Given the description of an element on the screen output the (x, y) to click on. 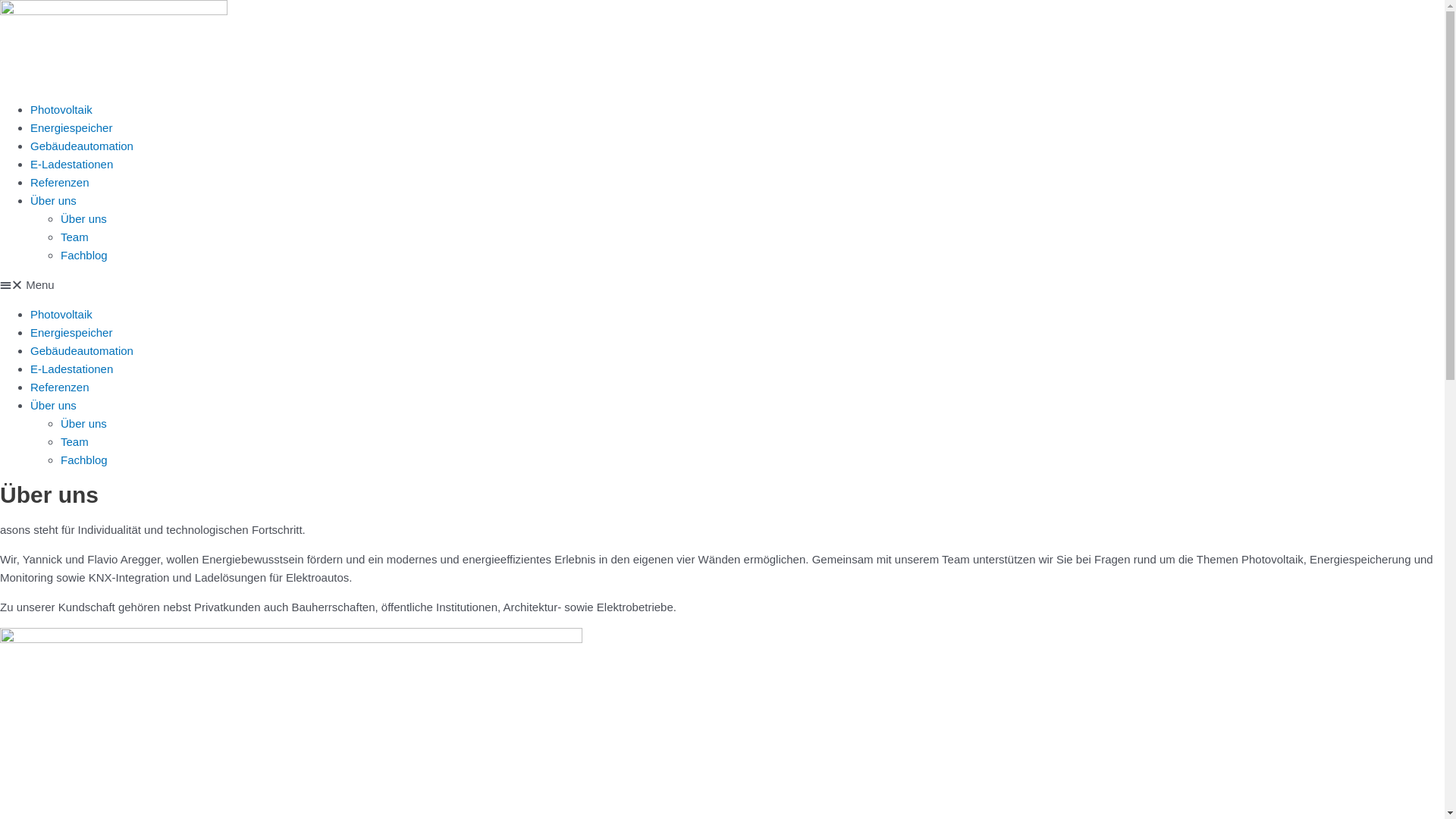
E-Ladestationen Element type: text (71, 368)
Team Element type: text (74, 441)
Photovoltaik Element type: text (61, 109)
Referenzen Element type: text (59, 181)
E-Ladestationen Element type: text (71, 163)
Energiespeicher Element type: text (71, 127)
Photovoltaik Element type: text (61, 313)
Team Element type: text (74, 236)
Fachblog Element type: text (83, 459)
Referenzen Element type: text (59, 386)
Fachblog Element type: text (83, 254)
Energiespeicher Element type: text (71, 332)
